Given the description of an element on the screen output the (x, y) to click on. 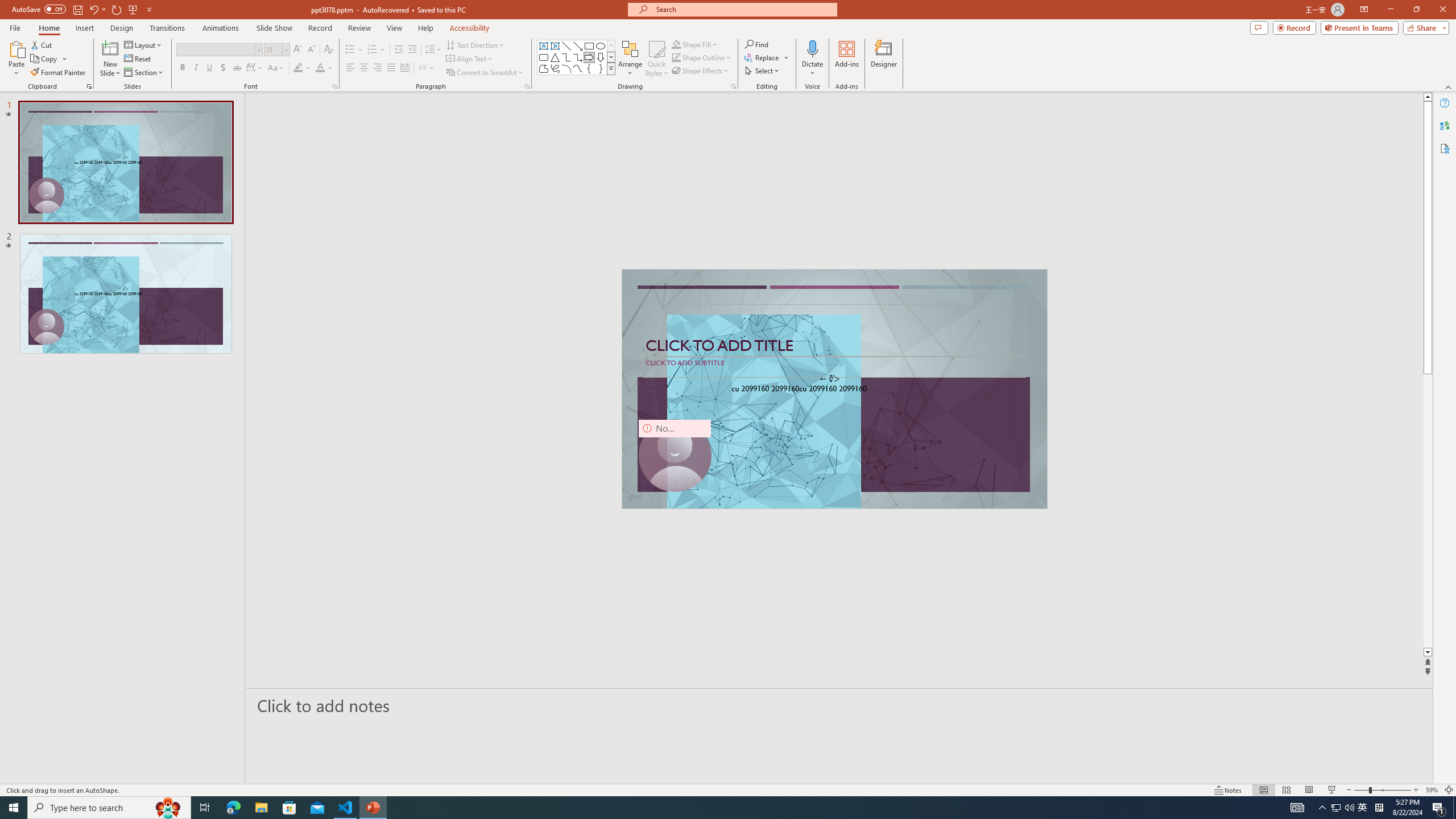
An abstract genetic concept (833, 388)
